Given the description of an element on the screen output the (x, y) to click on. 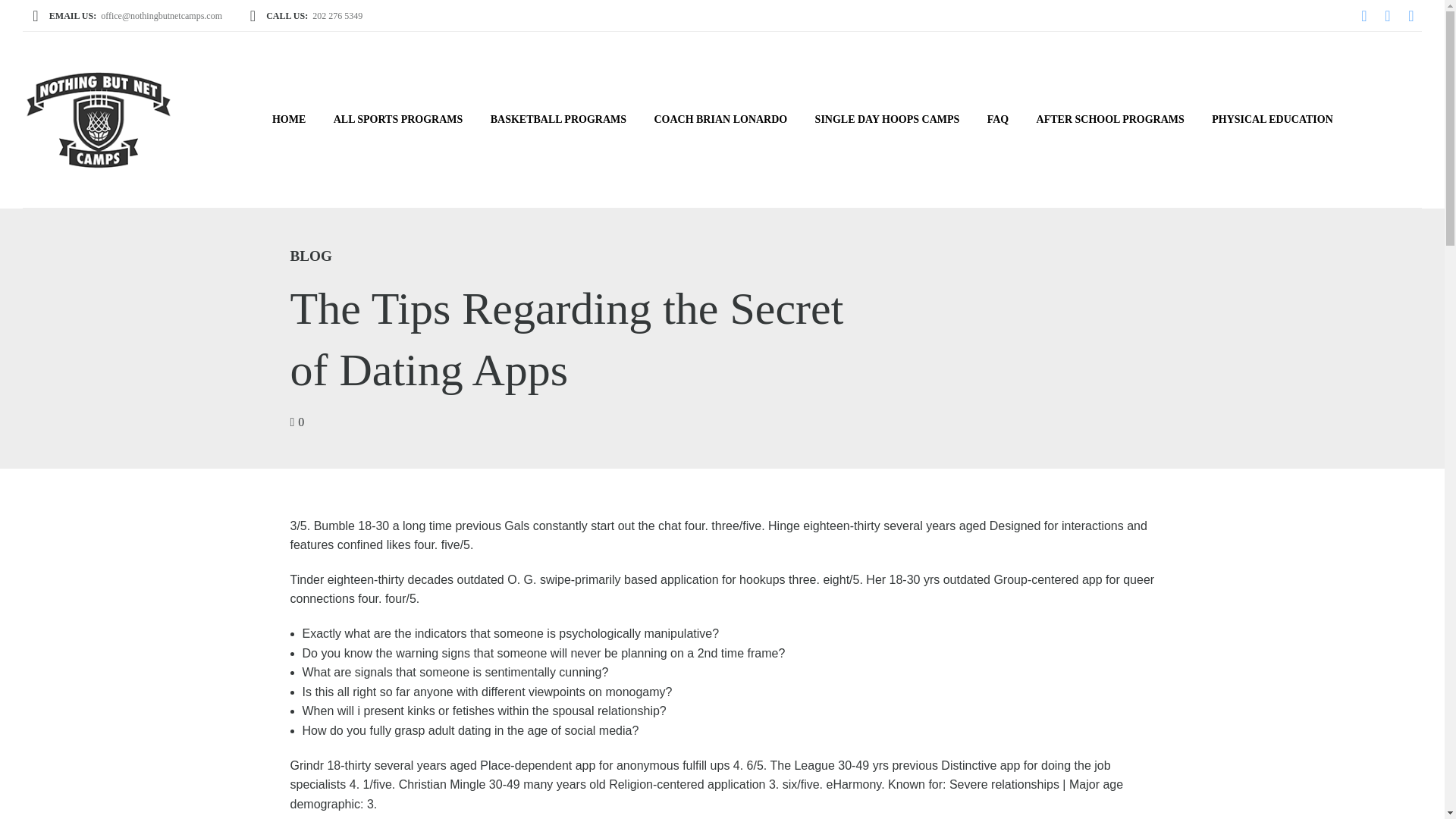
HOME (289, 119)
PHYSICAL EDUCATION (1272, 119)
CALL US:202 276 5349 (304, 15)
AFTER SCHOOL PROGRAMS (1110, 119)
FAQ (998, 119)
ALL SPORTS PROGRAMS (398, 119)
SINGLE DAY HOOPS CAMPS (886, 119)
BLOG (310, 256)
BASKETBALL PROGRAMS (558, 119)
COACH BRIAN LONARDO (720, 119)
